Given the description of an element on the screen output the (x, y) to click on. 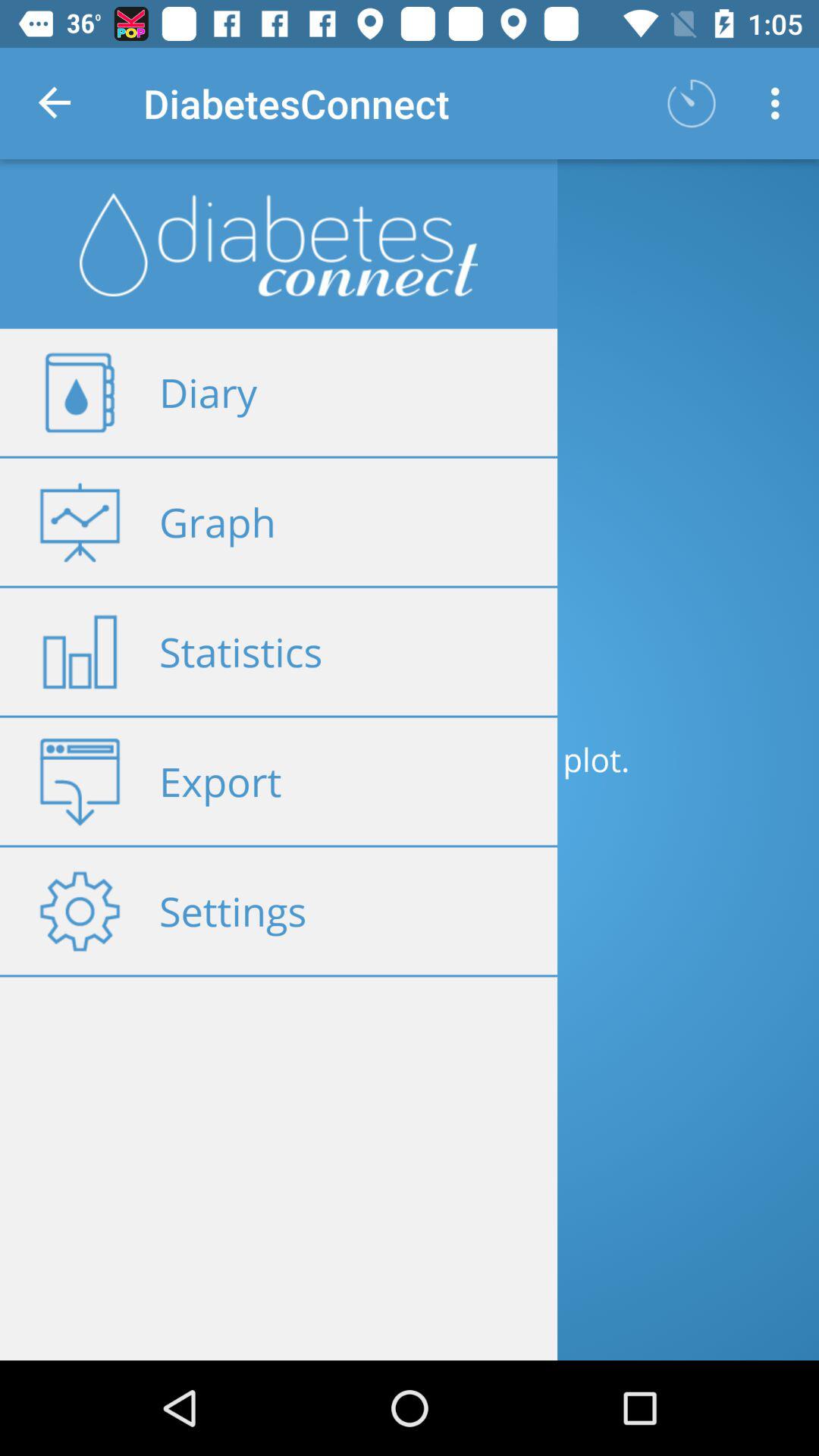
click on the diary icon (79, 393)
